Given the description of an element on the screen output the (x, y) to click on. 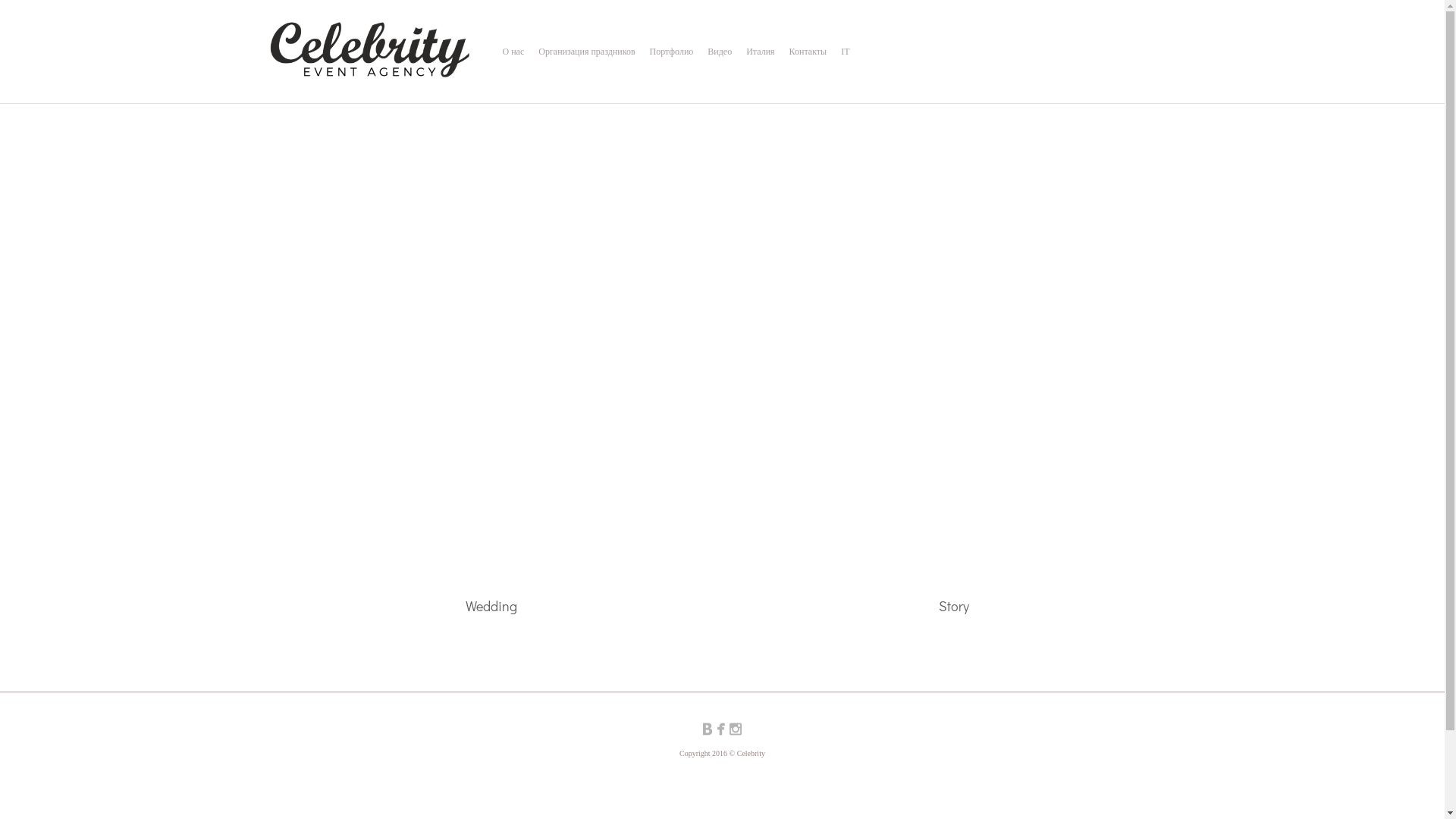
IT Element type: text (844, 51)
Celebrity event agency Element type: hover (368, 49)
